Given the description of an element on the screen output the (x, y) to click on. 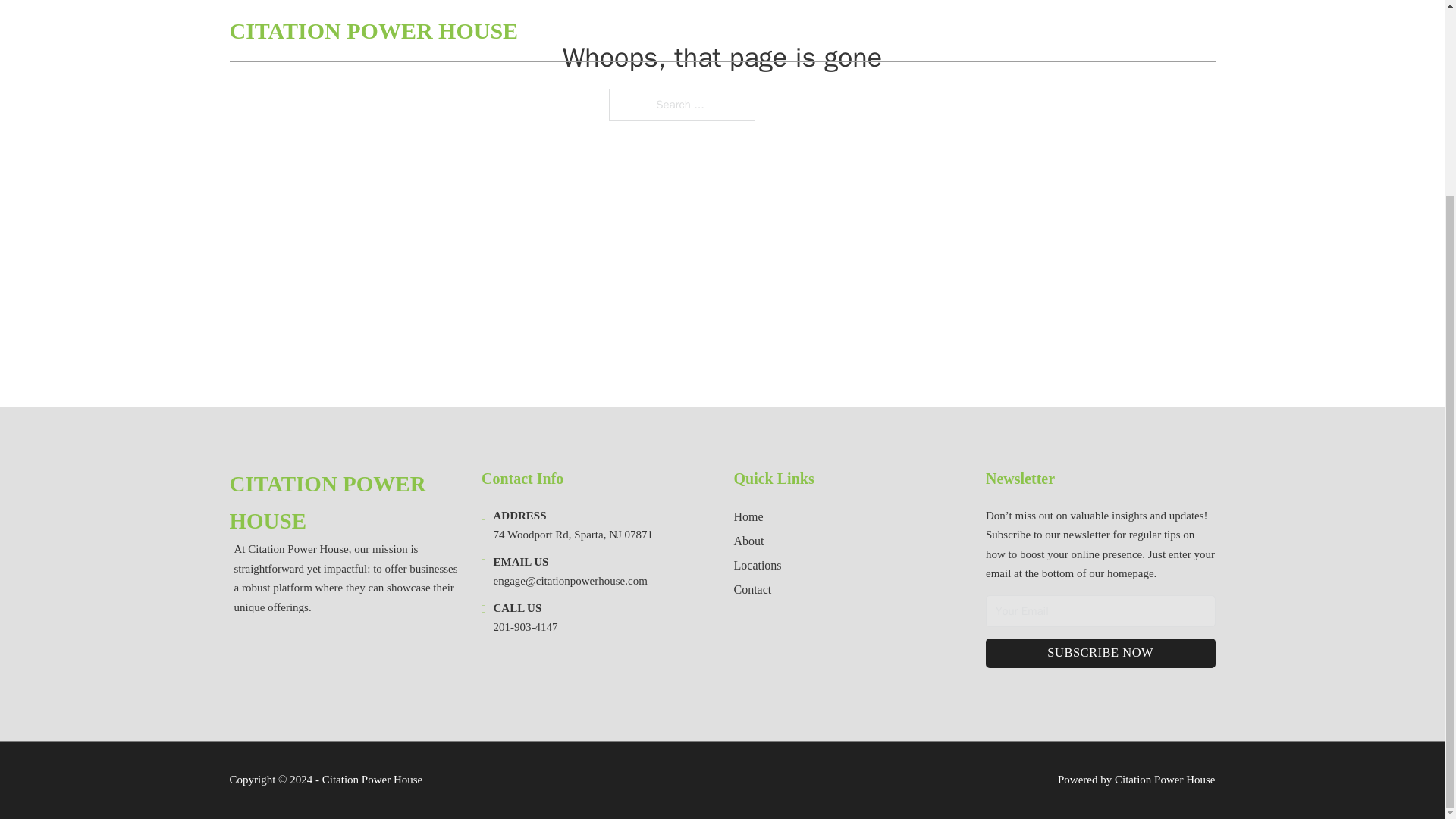
Home (747, 516)
About (748, 540)
201-903-4147 (525, 626)
Contact (752, 589)
CITATION POWER HOUSE (343, 503)
Locations (757, 565)
SUBSCRIBE NOW (1100, 653)
